Given the description of an element on the screen output the (x, y) to click on. 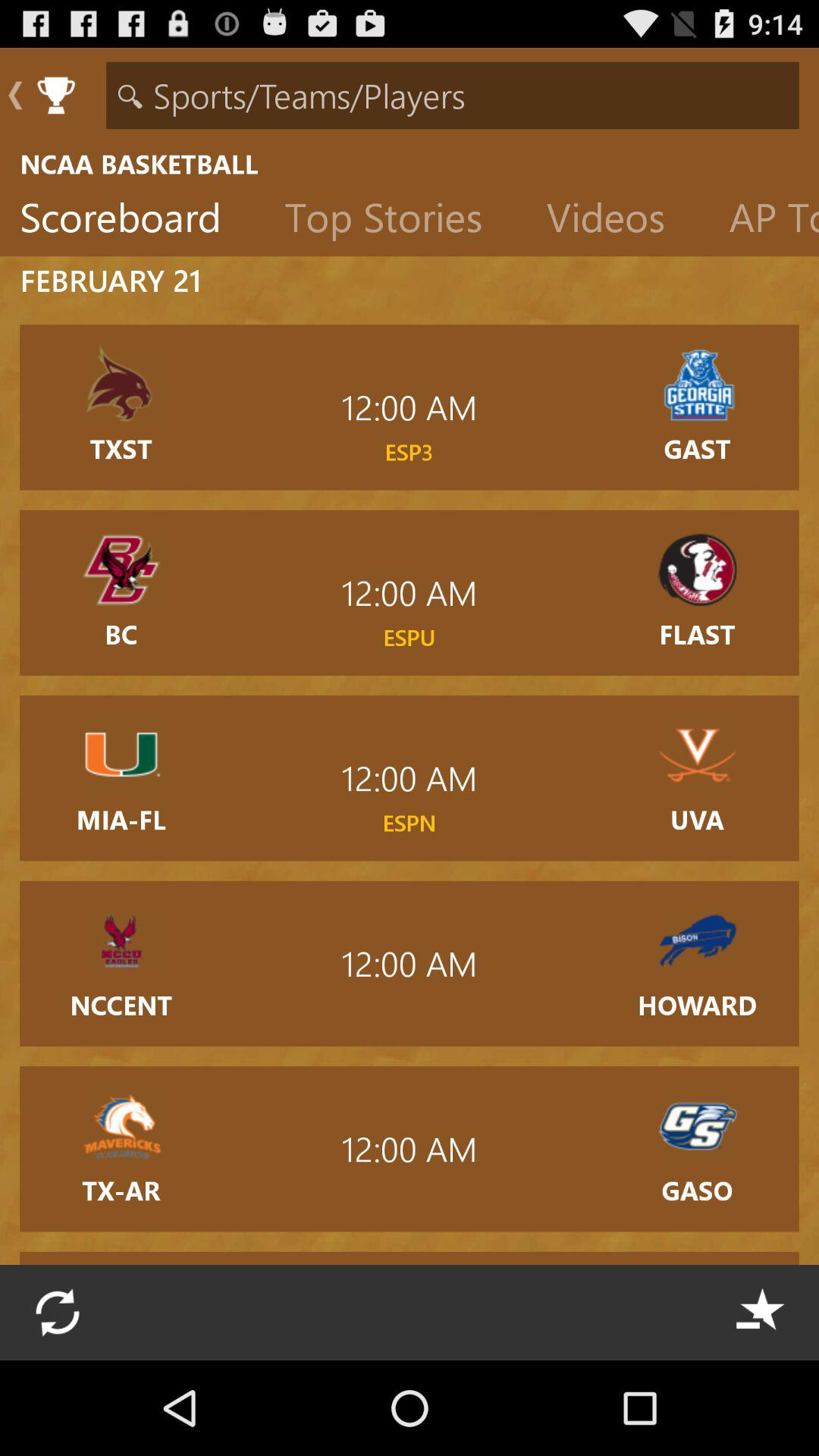
turn on scoreboard (132, 220)
